Given the description of an element on the screen output the (x, y) to click on. 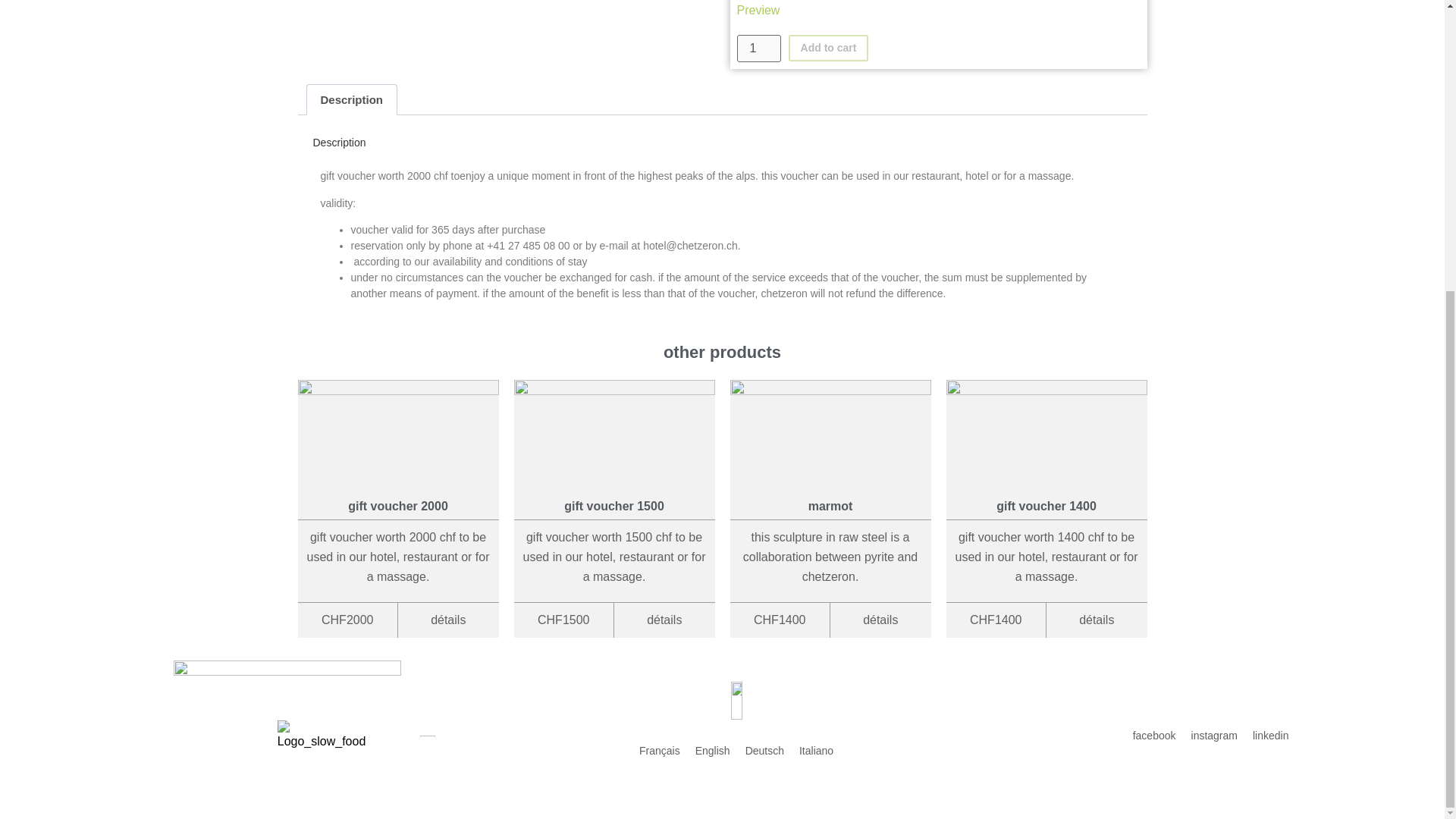
Deutsch (765, 750)
facebook (1154, 735)
Preview (934, 10)
Description (350, 99)
Italiano (816, 750)
linkedin (1269, 735)
